Given the description of an element on the screen output the (x, y) to click on. 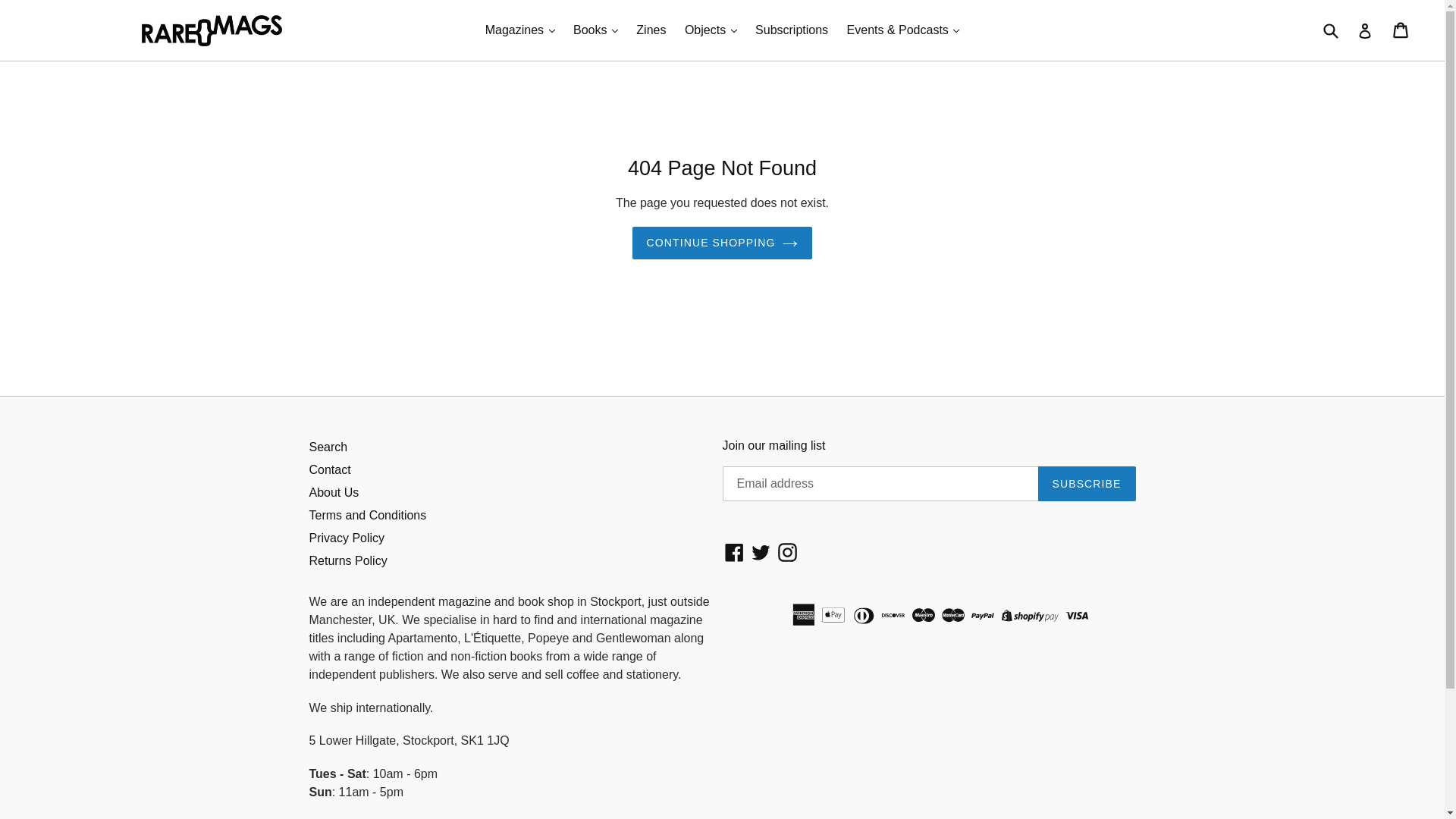
Rare Mags on Twitter (761, 551)
Rare Mags on Facebook (733, 551)
Rare Mags on Instagram (787, 551)
